Given the description of an element on the screen output the (x, y) to click on. 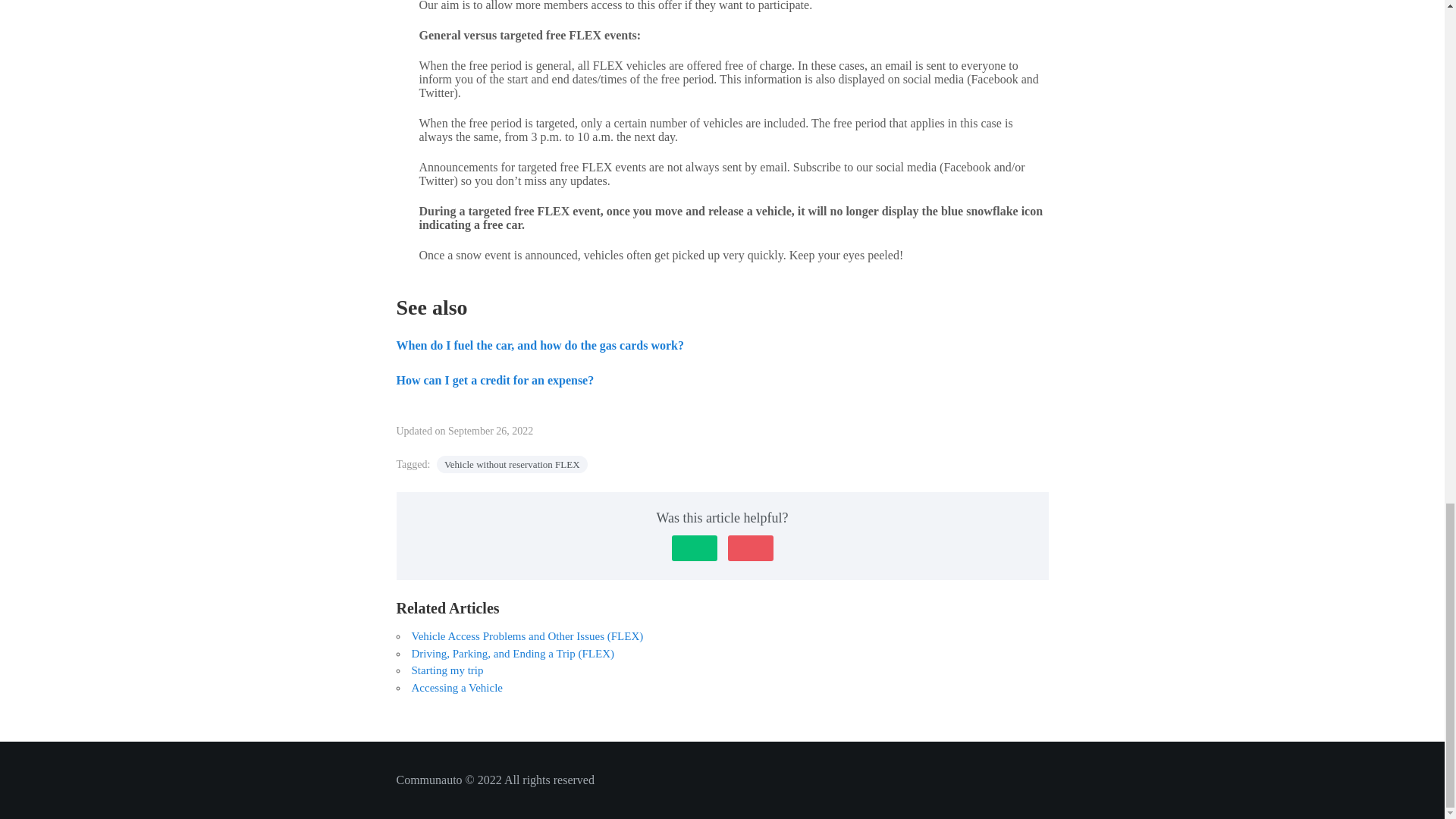
How can I get a credit for an expense? (495, 379)
Vehicle without reservation FLEX (512, 464)
When do I fuel the car, and how do the gas cards work? (539, 345)
Starting my trip (446, 670)
Accessing a Vehicle (456, 687)
